Given the description of an element on the screen output the (x, y) to click on. 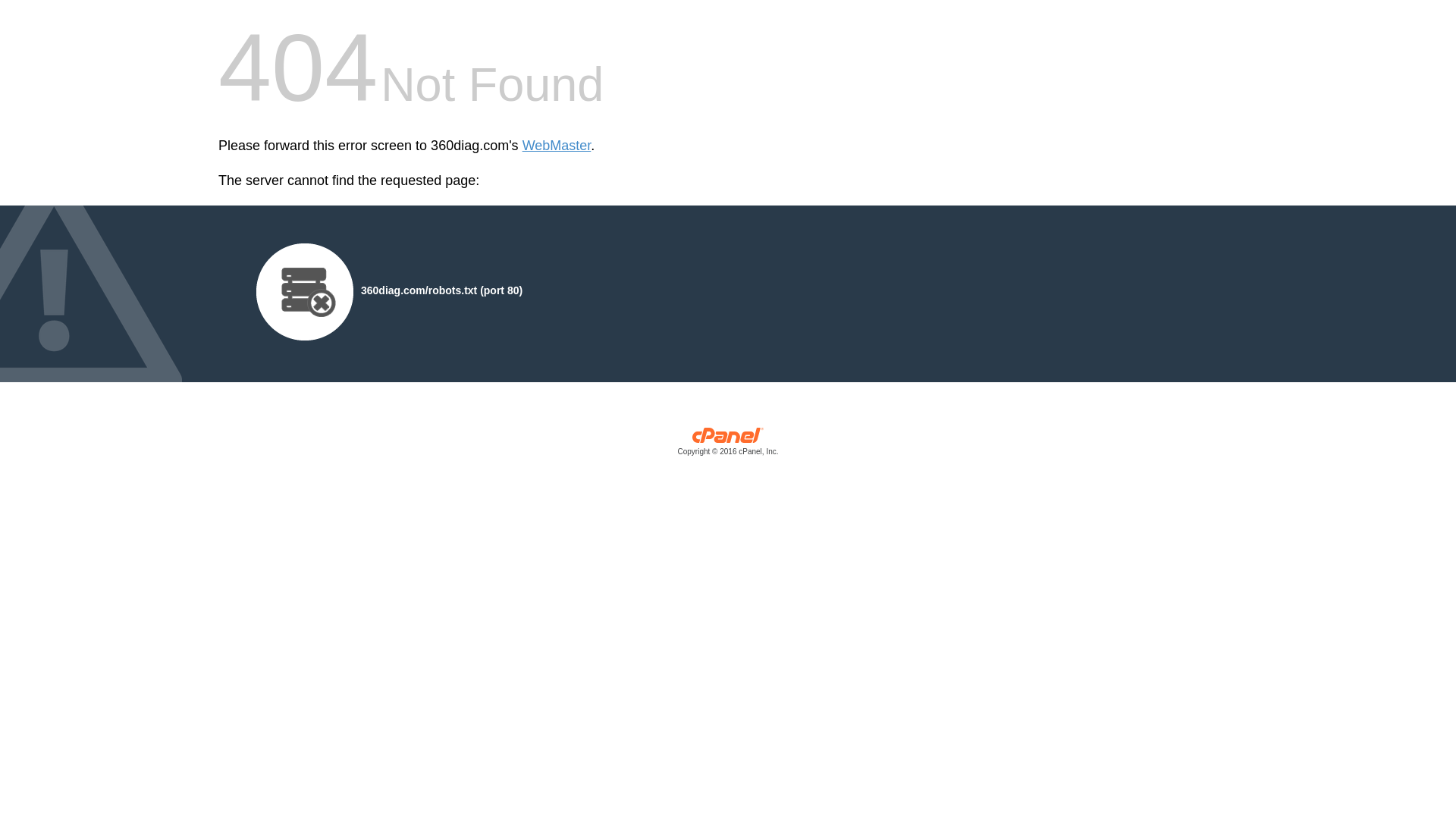
WebMaster Element type: text (556, 145)
